Given the description of an element on the screen output the (x, y) to click on. 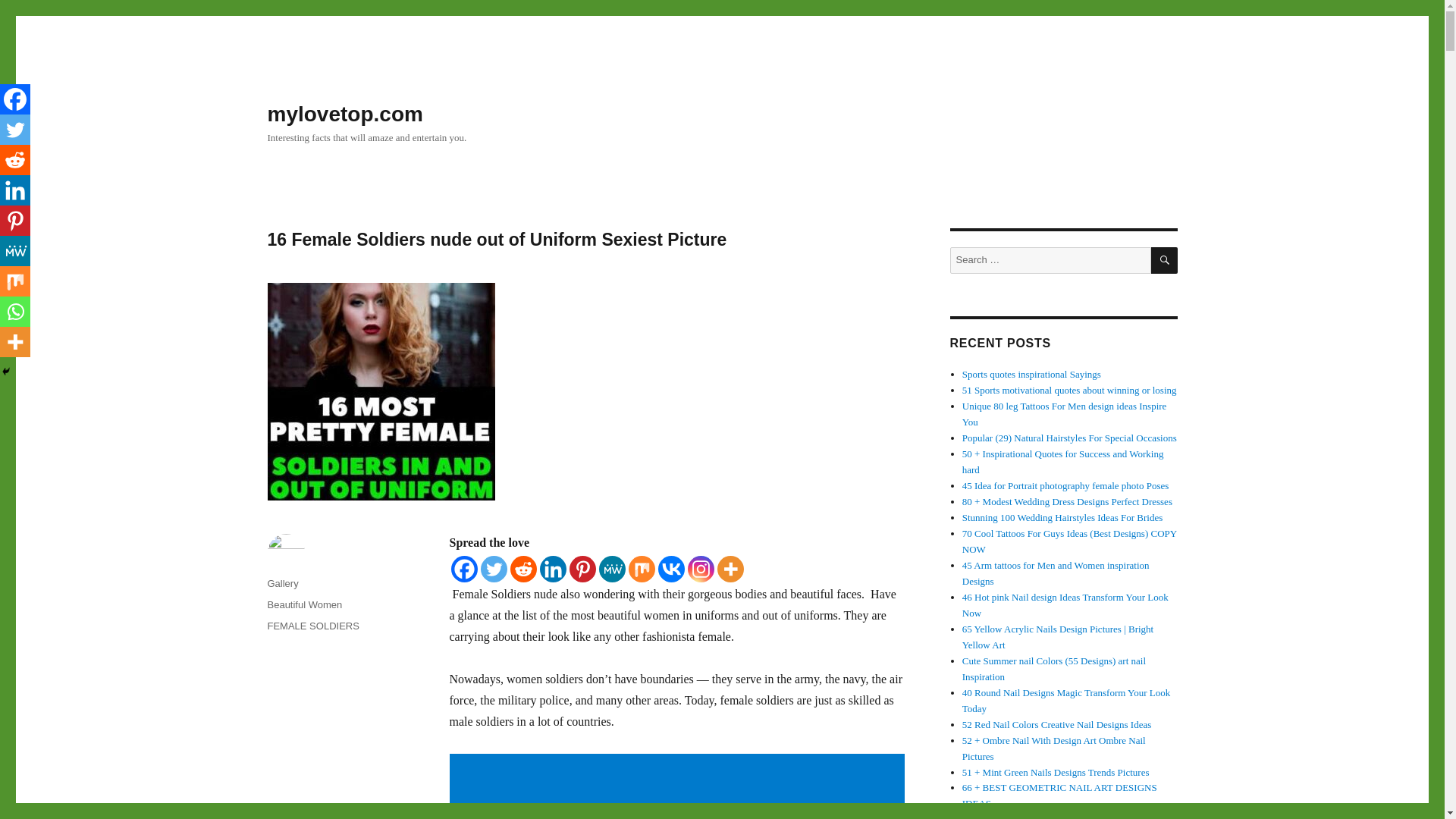
Vkontakte (671, 569)
FEMALE SOLDIERS (312, 625)
Beautiful Women (304, 604)
Advertisement (679, 787)
mylovetop.com (344, 114)
Facebook (463, 569)
More (730, 569)
Gallery (282, 583)
Twitter (493, 569)
Linkedin (553, 569)
SEARCH (1164, 260)
45 Idea for Portrait photography female photo Poses (1065, 485)
MeWe (612, 569)
Sports quotes inspirational Sayings (1031, 374)
Unique 80 leg Tattoos For Men design ideas Inspire You (1064, 413)
